Given the description of an element on the screen output the (x, y) to click on. 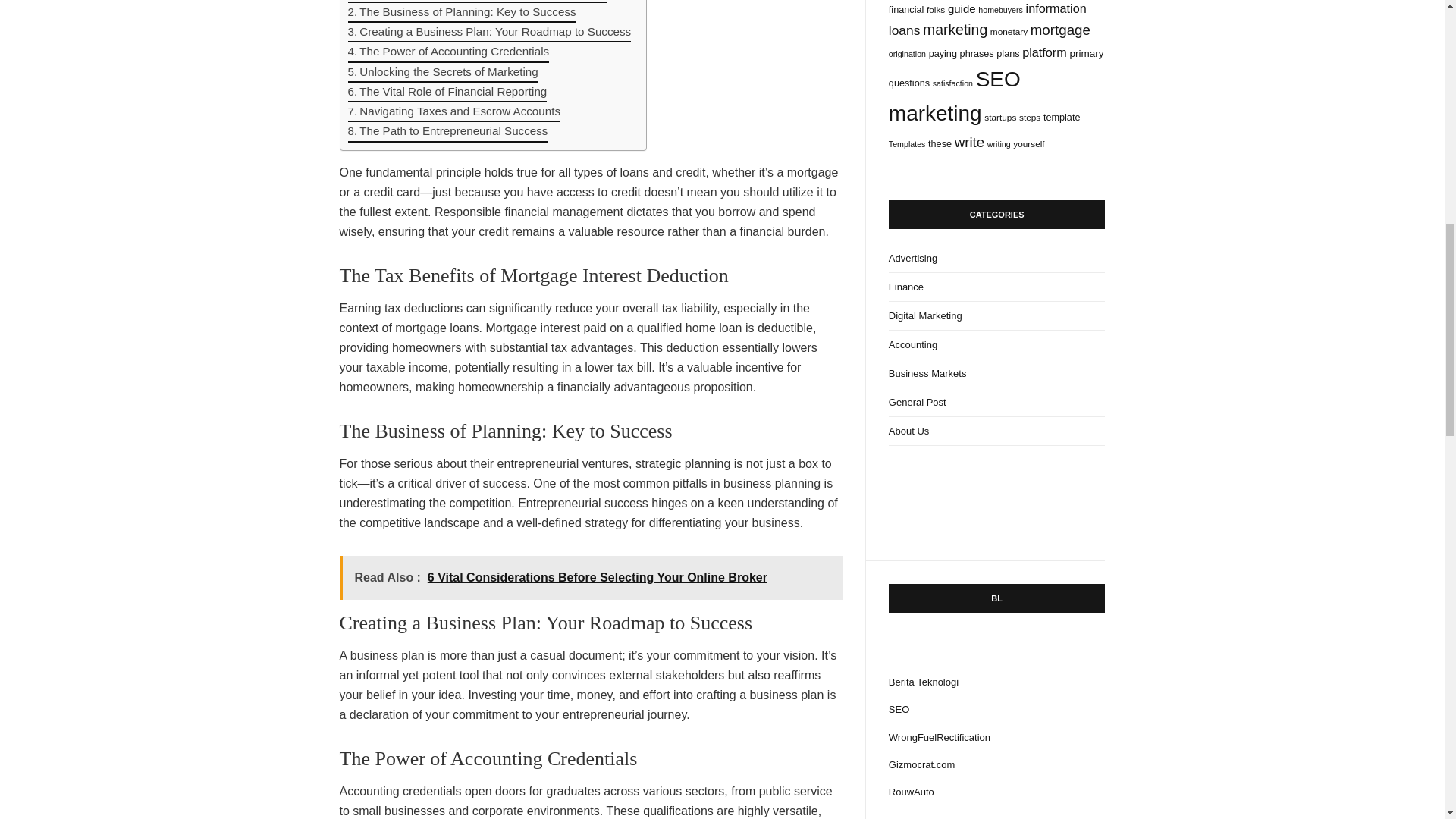
Unlocking the Secrets of Marketing (442, 72)
Unlocking the Secrets of Marketing (442, 72)
The Path to Entrepreneurial Success (447, 131)
The Business of Planning: Key to Success (461, 12)
Navigating Taxes and Escrow Accounts (453, 112)
Creating a Business Plan: Your Roadmap to Success (488, 32)
The Vital Role of Financial Reporting (447, 92)
Creating a Business Plan: Your Roadmap to Success (488, 32)
The Business of Planning: Key to Success (461, 12)
The Path to Entrepreneurial Success (447, 131)
The Power of Accounting Credentials (447, 52)
The Power of Accounting Credentials (447, 52)
